Given the description of an element on the screen output the (x, y) to click on. 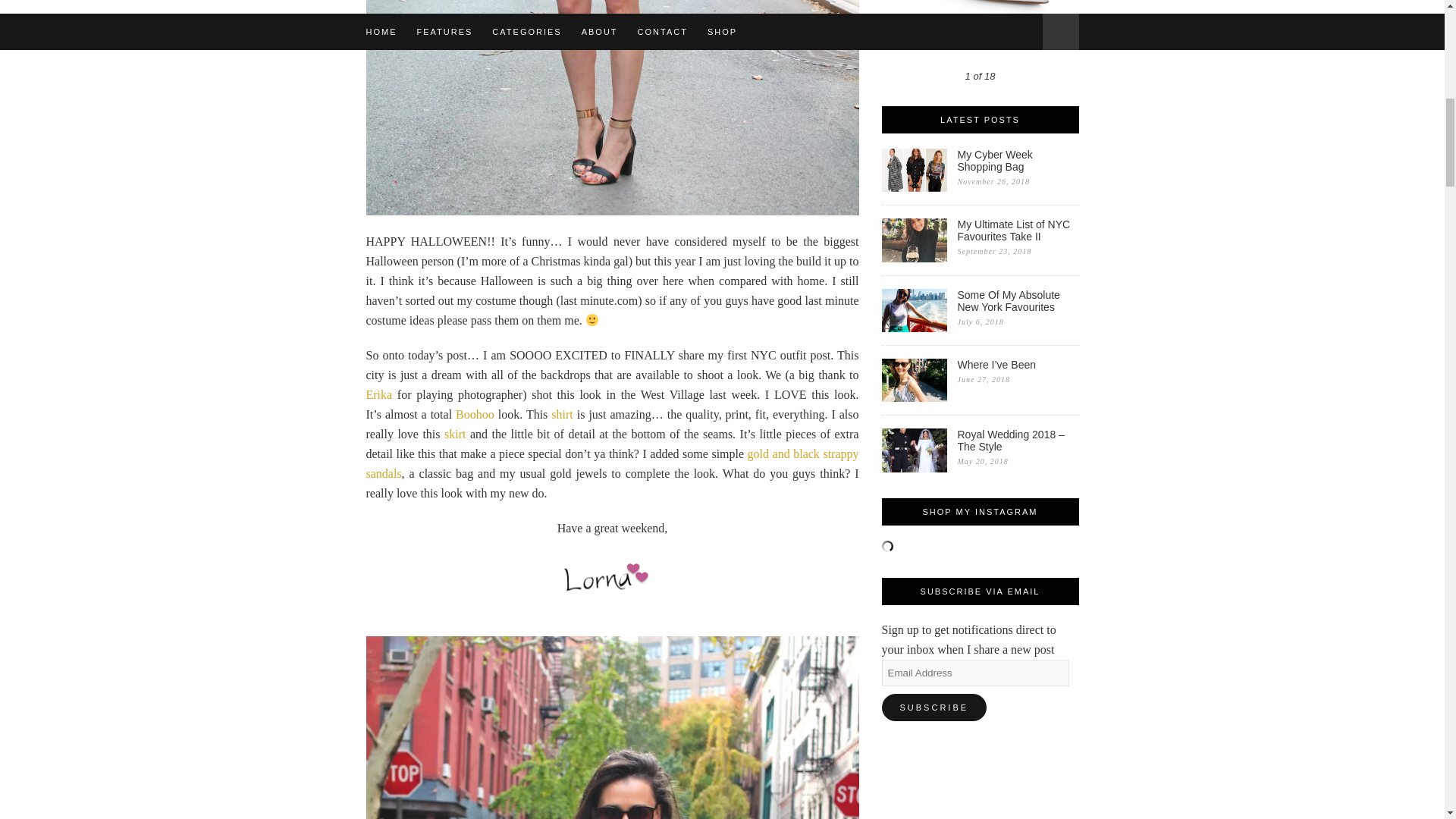
Subscribe (933, 707)
Permanent Link: My Ultimate List of NYC Favourites Take II (1017, 230)
Permanent Link: My Cyber Week Shopping Bag (1017, 160)
Permanent Link: Some Of My Absolute New York Favourites (1017, 300)
Permanent Link: Some Of My Absolute New York Favourites (913, 327)
Permanent Link: My Cyber Week Shopping Bag (913, 187)
Permanent Link: My Ultimate List of NYC Favourites Take II (913, 257)
